Given the description of an element on the screen output the (x, y) to click on. 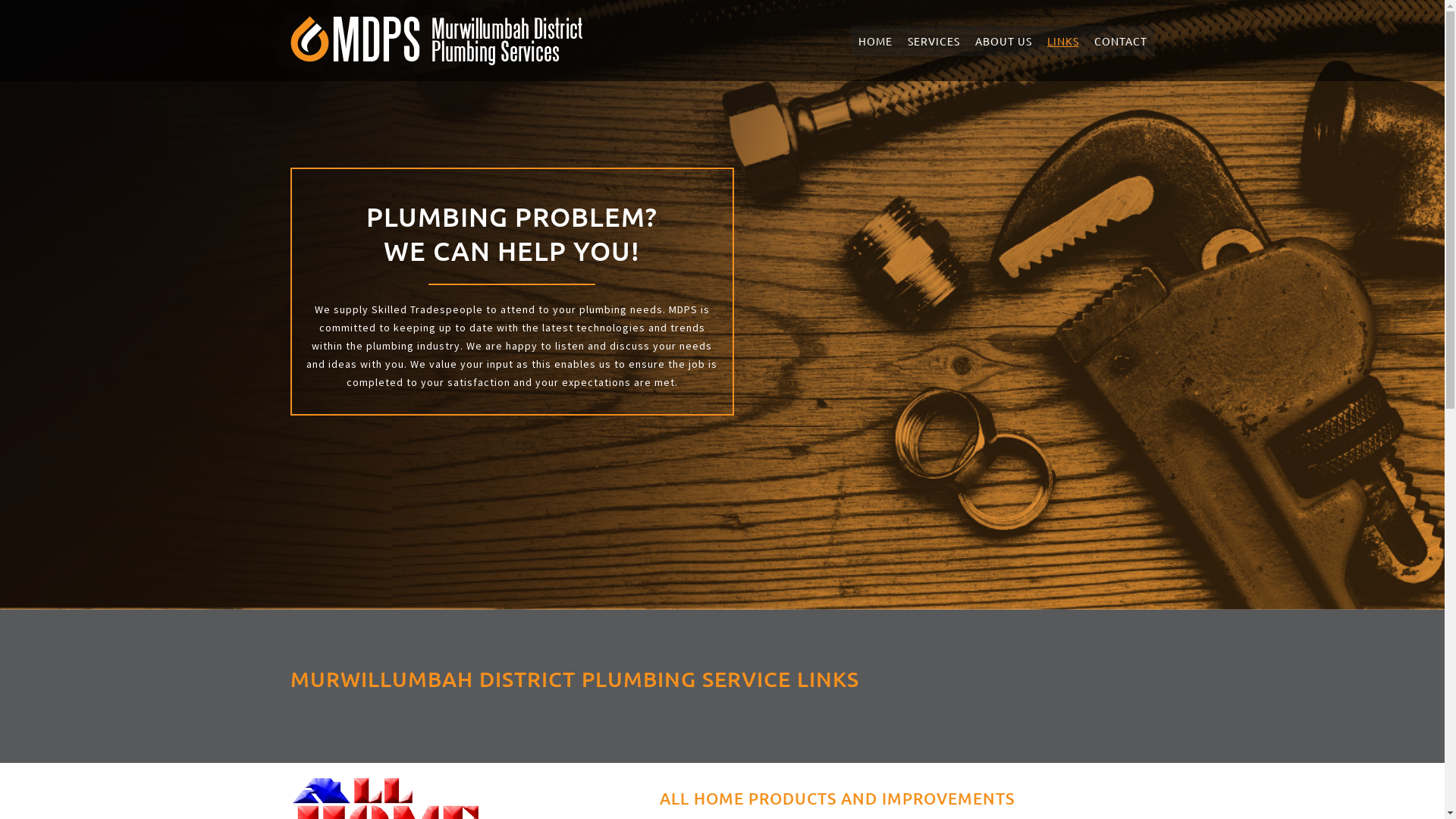
HOME Element type: text (875, 40)
CONTACT Element type: text (1119, 40)
SERVICES Element type: text (932, 40)
ABOUT US Element type: text (1003, 40)
LINKS Element type: text (1061, 40)
